Given the description of an element on the screen output the (x, y) to click on. 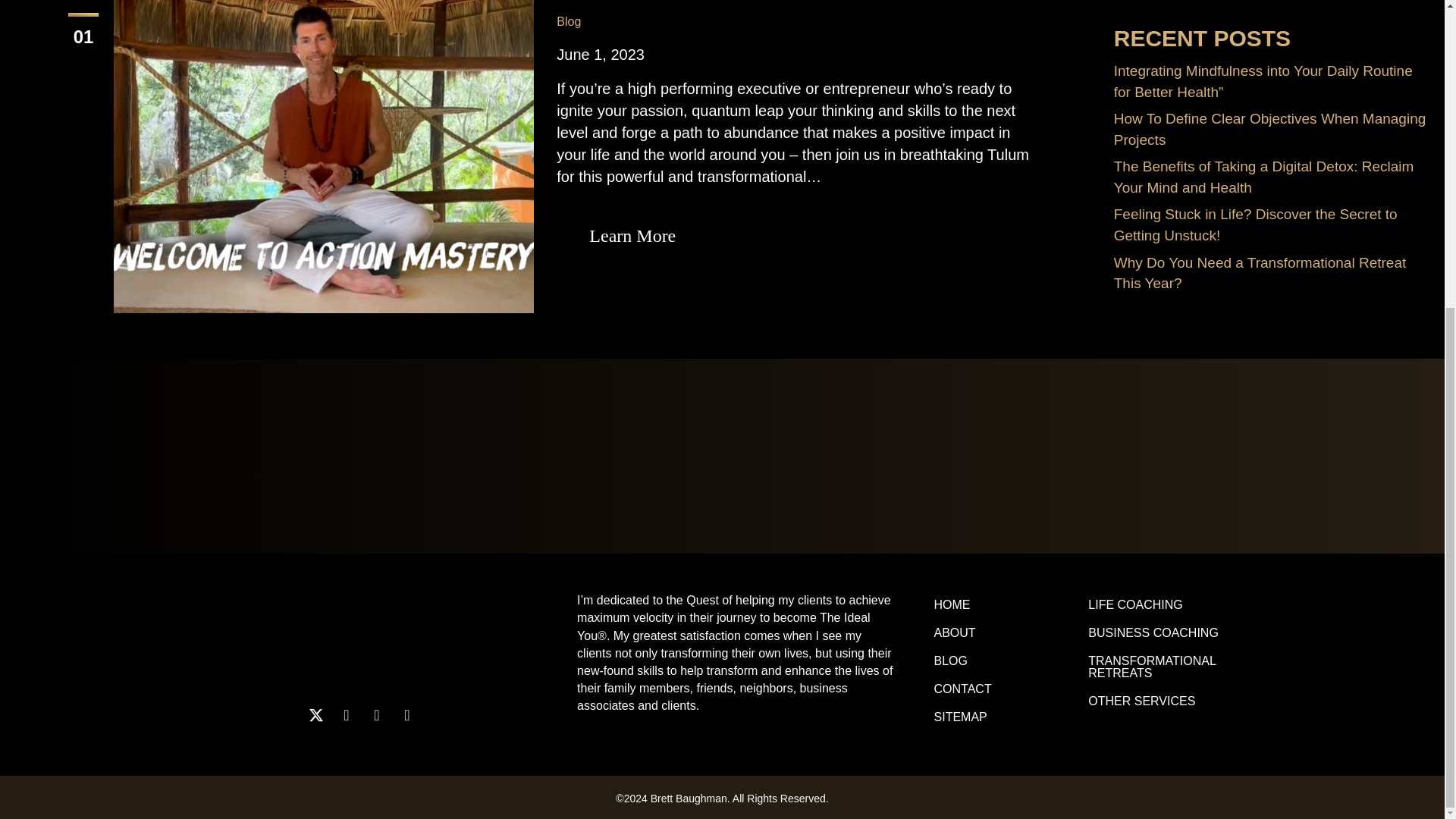
Learn More (631, 236)
Instagram (346, 714)
Welcome to Action Mastery! (323, 141)
